Given the description of an element on the screen output the (x, y) to click on. 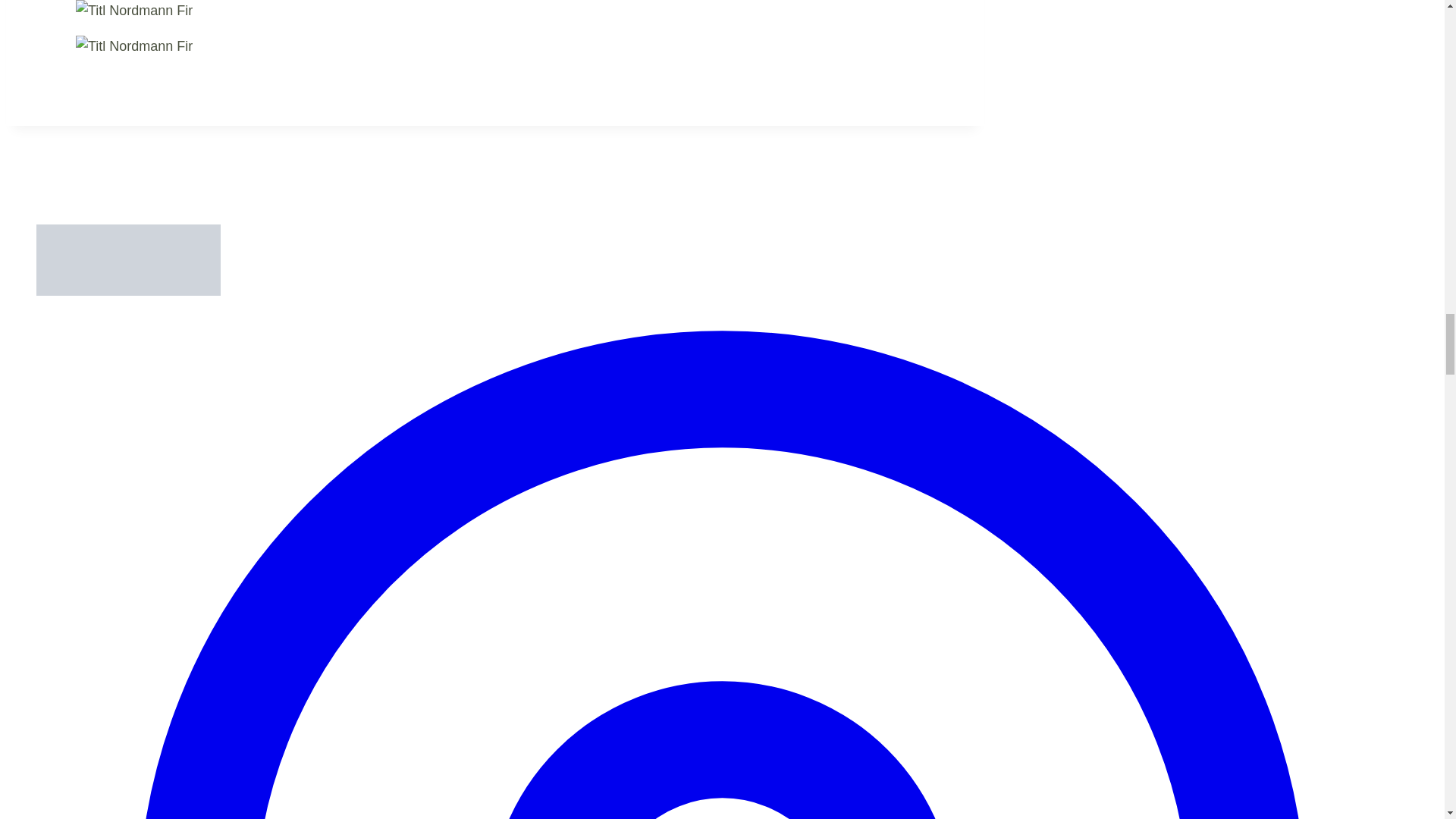
Nordmann Fir 8 (133, 11)
Nordmann Fir 9 (133, 46)
